Given the description of an element on the screen output the (x, y) to click on. 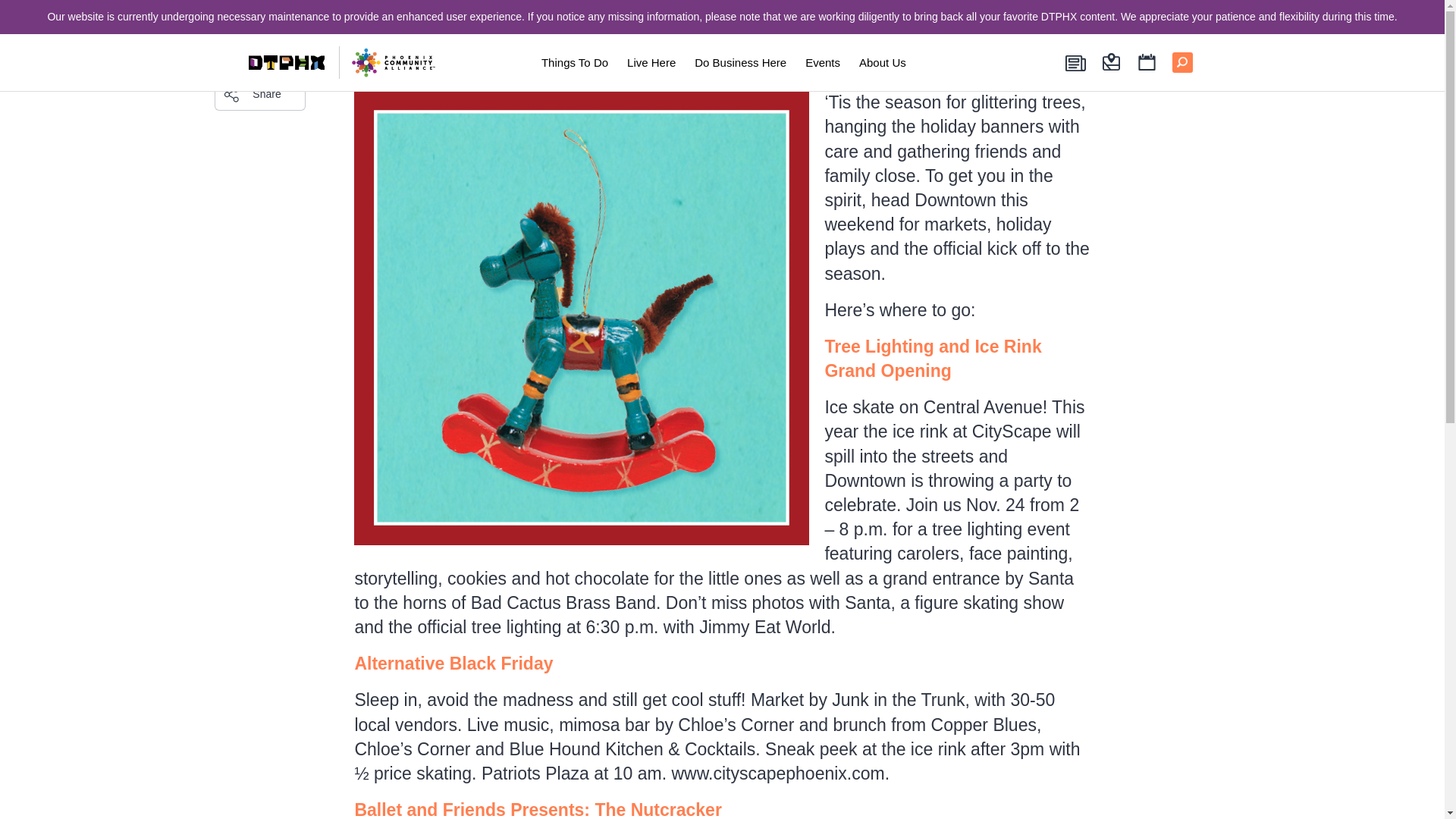
About Us (883, 62)
Do Business Here (740, 62)
Live Here (651, 62)
Events (823, 62)
Search (259, 50)
Things To Do (574, 62)
